Given the description of an element on the screen output the (x, y) to click on. 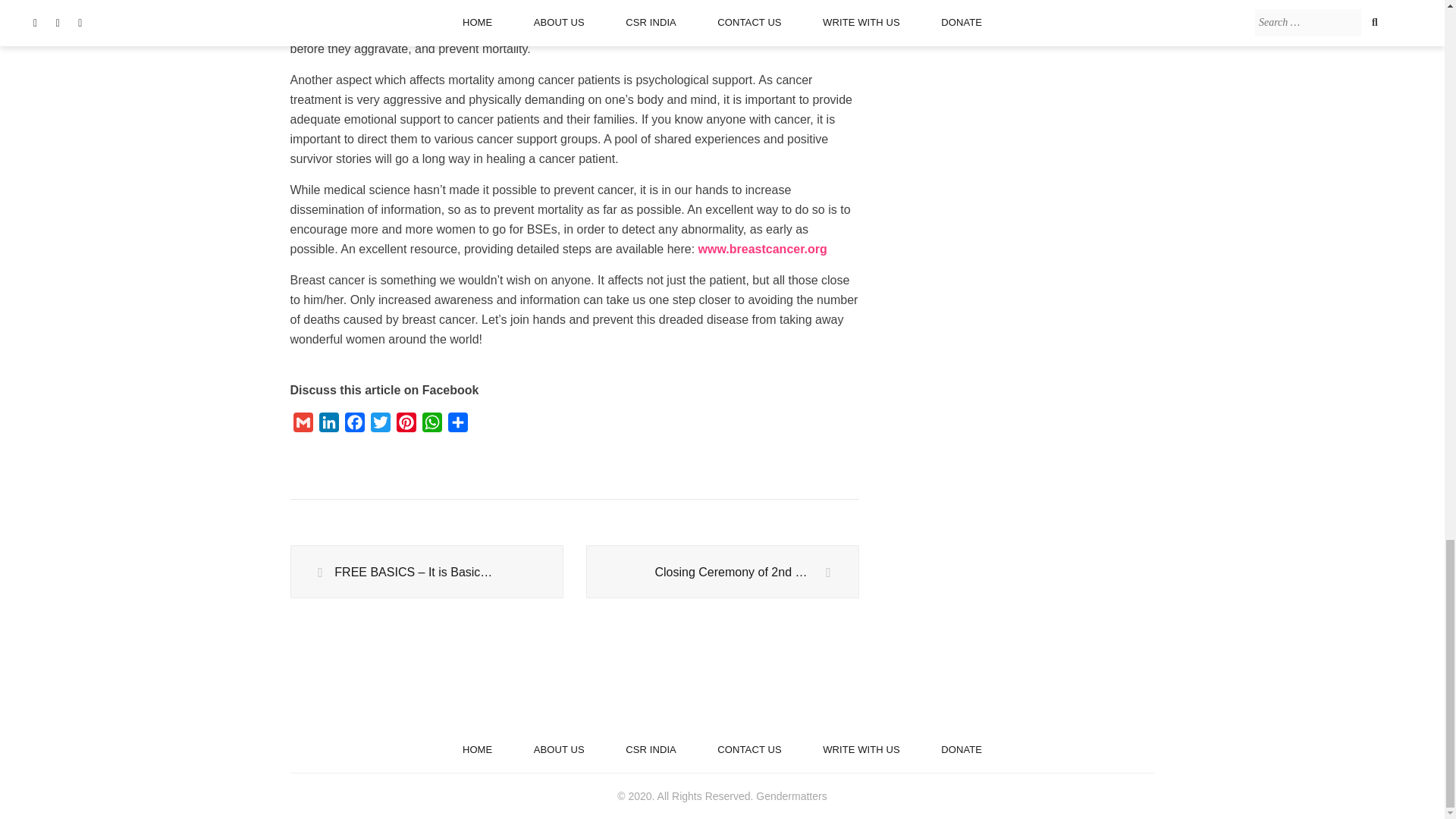
www.breastcancer.org (762, 248)
Gmail (302, 425)
WhatsApp (431, 425)
Closing Ceremony of 2nd Self Defence Winter Camp (722, 572)
Twitter (379, 425)
WhatsApp (431, 425)
Facebook (353, 425)
Facebook (353, 425)
Twitter (379, 425)
Pinterest (406, 425)
Gmail (302, 425)
LinkedIn (327, 425)
FREE BASICS - It is Basic, It is Free! (426, 572)
Pinterest (406, 425)
LinkedIn (327, 425)
